Given the description of an element on the screen output the (x, y) to click on. 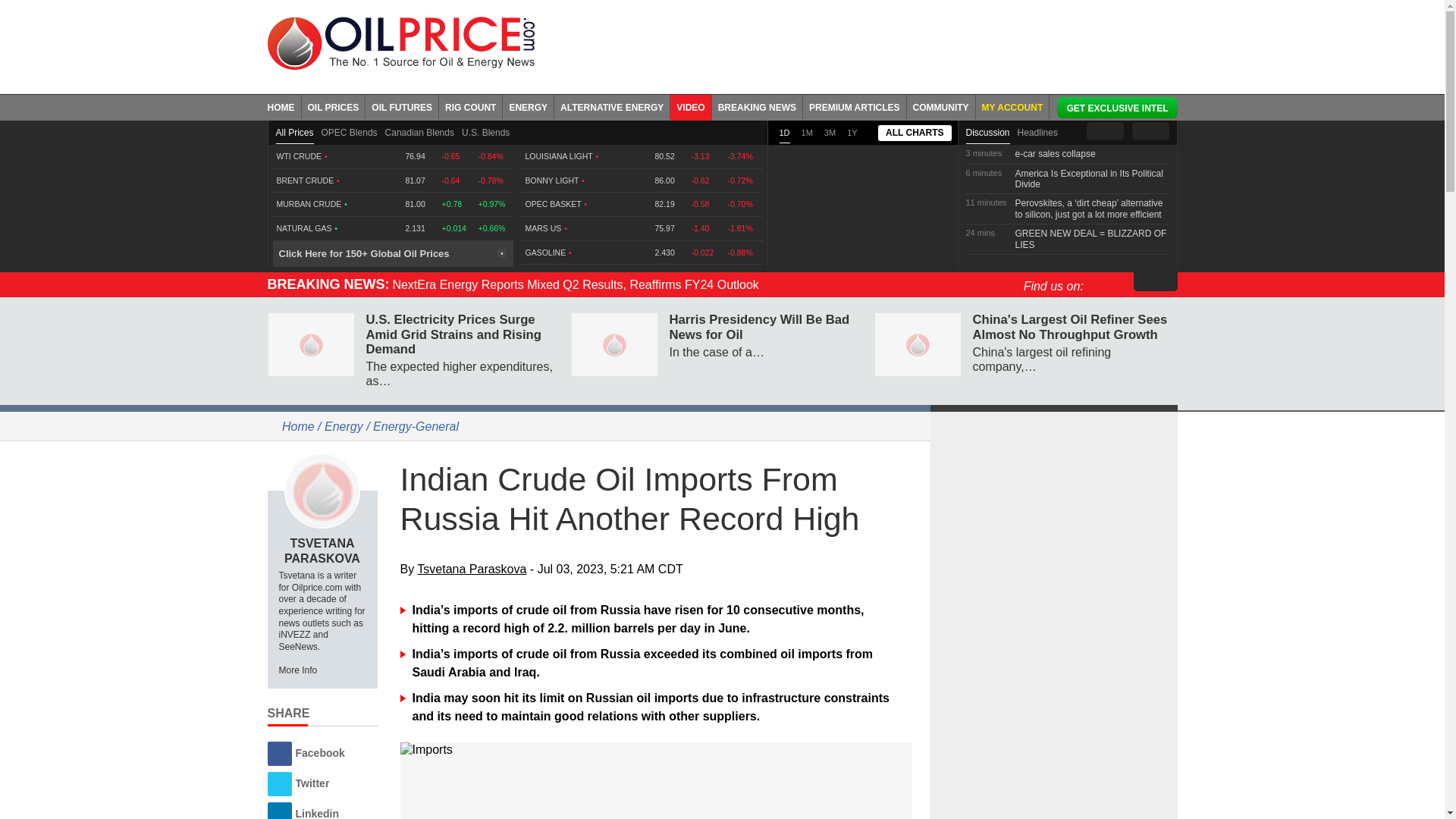
RIG COUNT (470, 106)
OIL FUTURES (402, 106)
Oil prices - Oilprice.com (400, 42)
OIL PRICES (333, 106)
VIDEO (690, 106)
MY ACCOUNT (1012, 106)
Imports (656, 749)
ENERGY (528, 106)
PREMIUM ARTICLES (855, 106)
ALTERNATIVE ENERGY (611, 106)
HOME (283, 106)
BREAKING NEWS (757, 106)
COMMUNITY (941, 106)
Tsvetana Paraskova (321, 490)
